Given the description of an element on the screen output the (x, y) to click on. 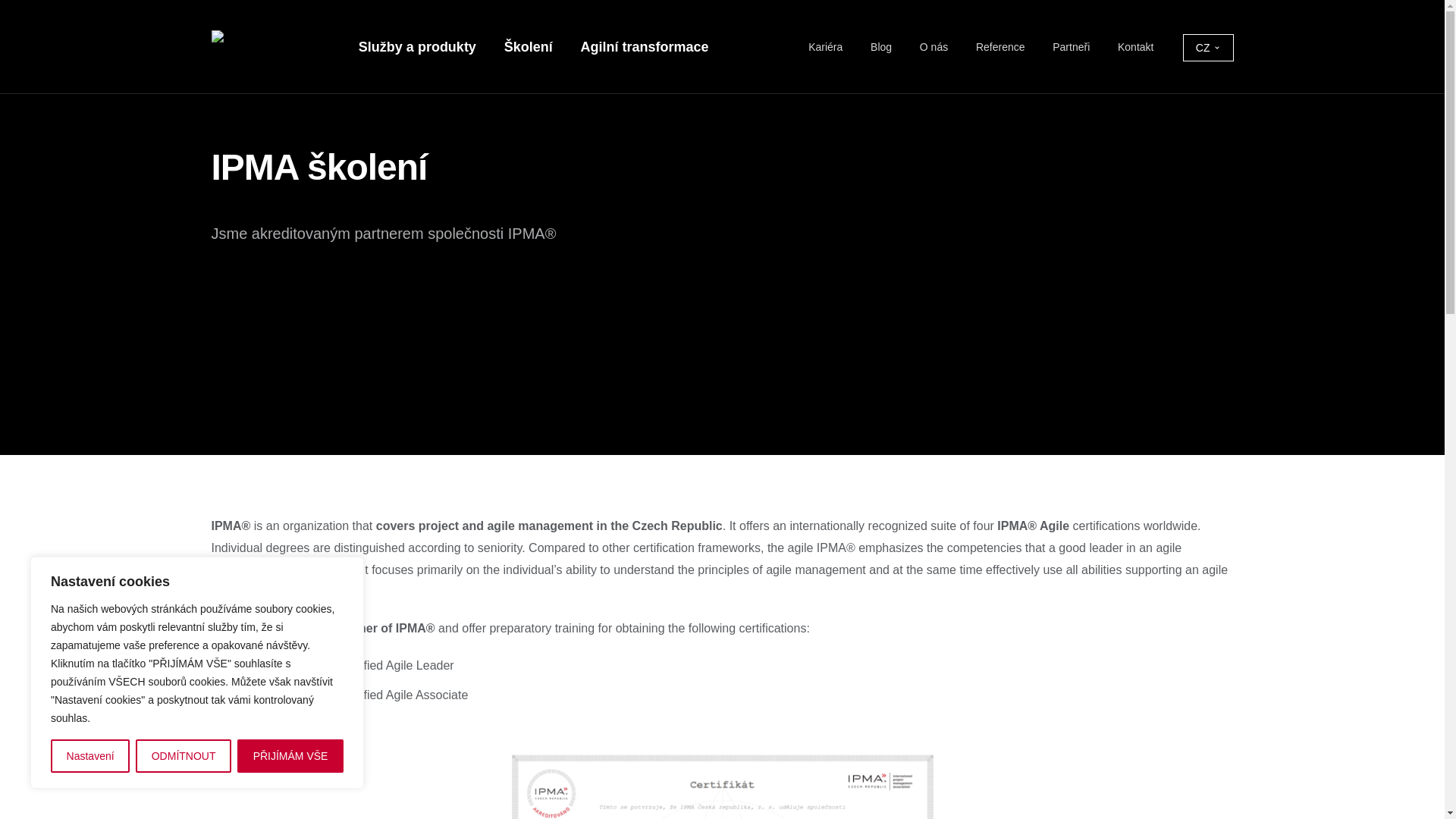
CZ (1207, 47)
